Given the description of an element on the screen output the (x, y) to click on. 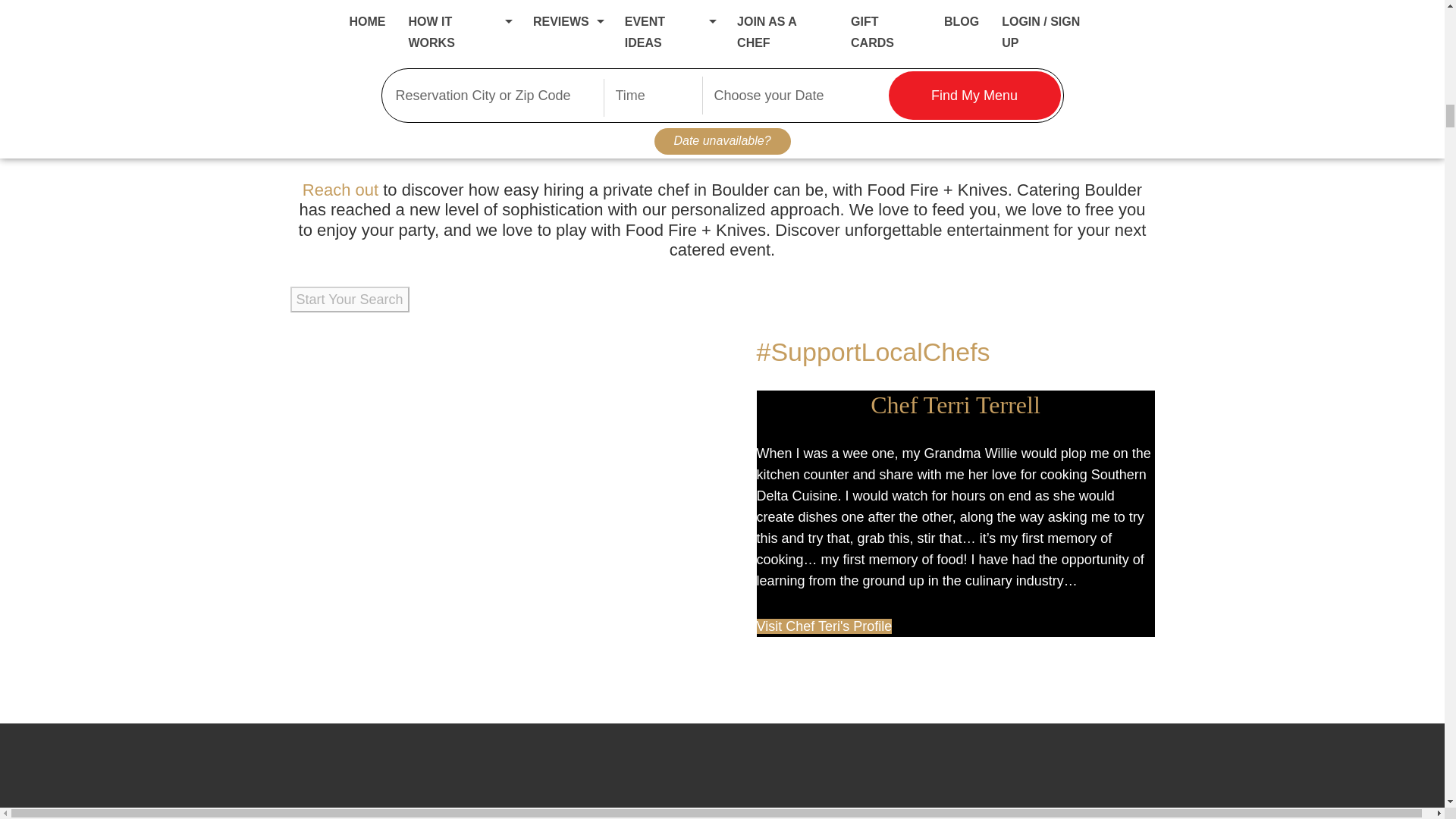
Private Chefs Asheville (452, 487)
